Given the description of an element on the screen output the (x, y) to click on. 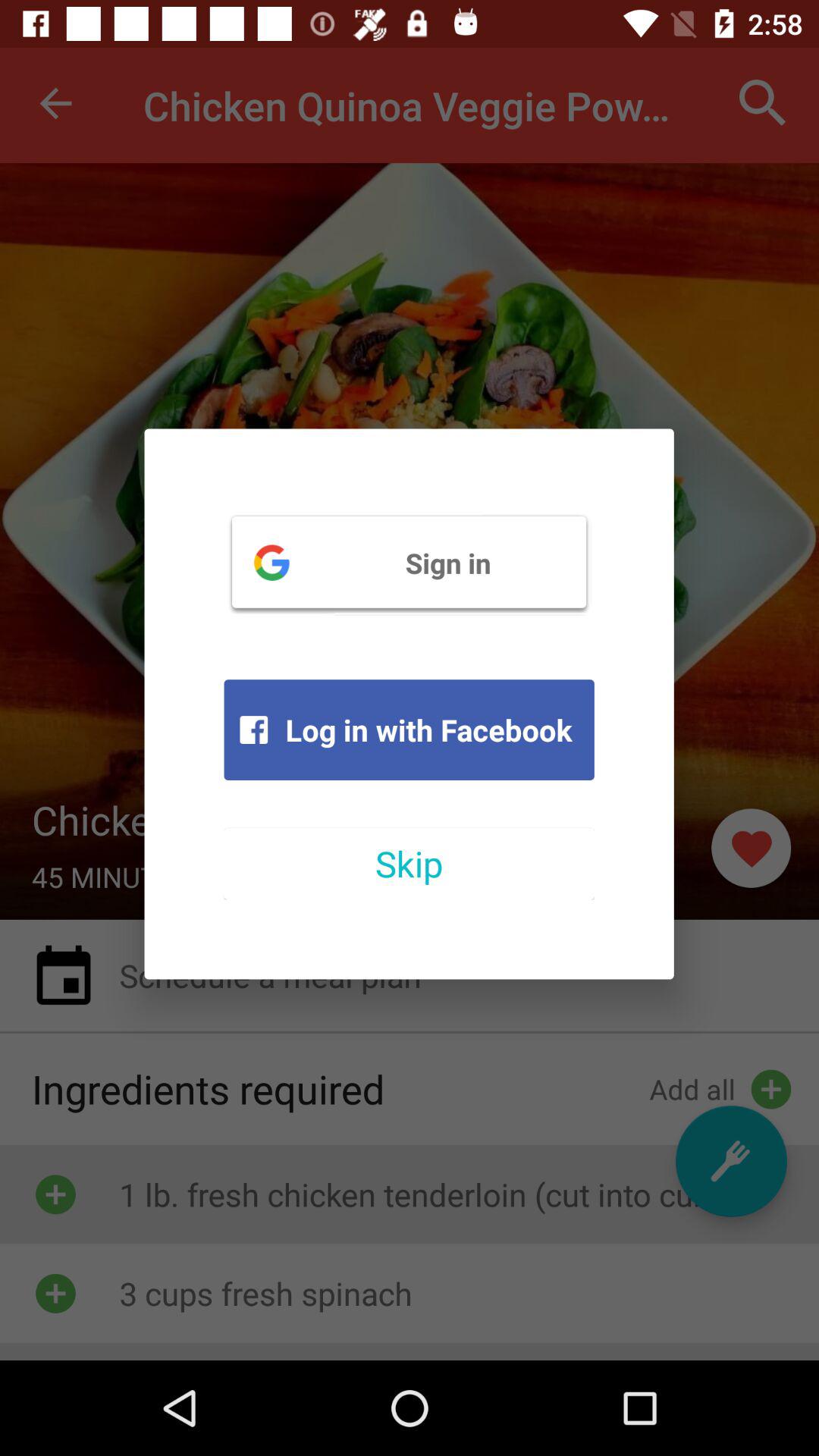
click the item above the skip item (409, 729)
